Given the description of an element on the screen output the (x, y) to click on. 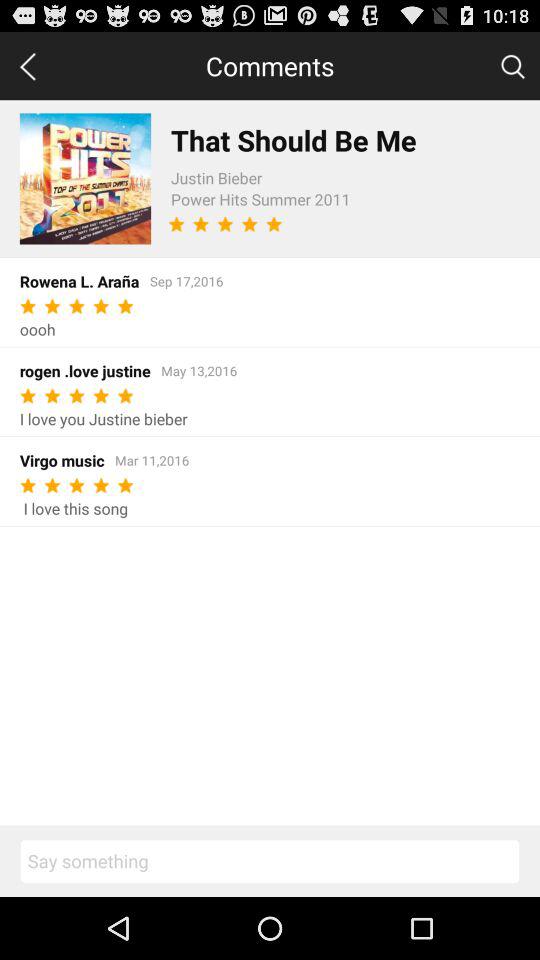
to search (512, 65)
